Given the description of an element on the screen output the (x, y) to click on. 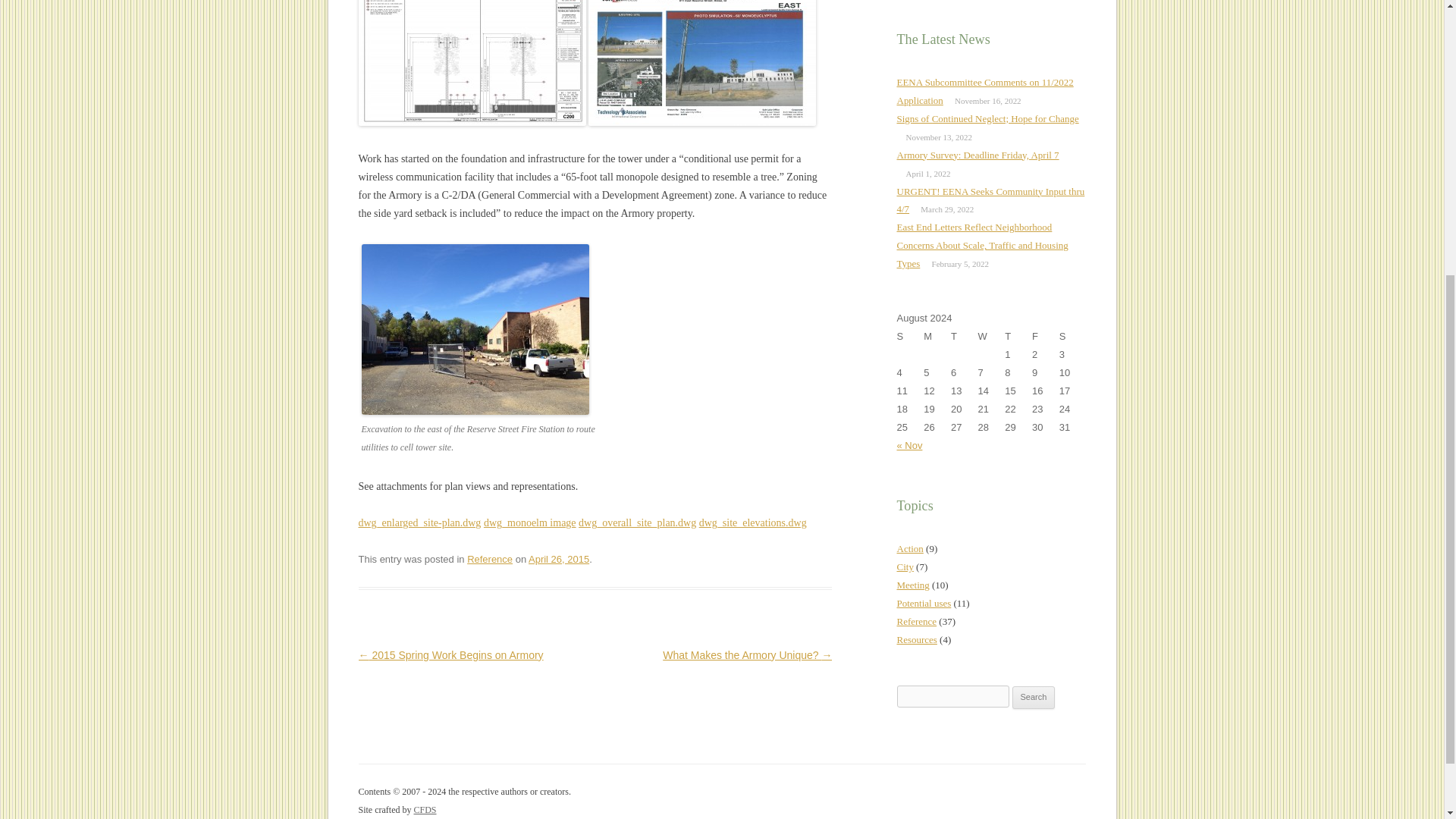
Wednesday (992, 336)
City (904, 566)
Meeting (912, 584)
Sunday (909, 336)
Friday (1045, 336)
Reference (916, 621)
Action (909, 548)
Tuesday (964, 336)
Armory Survey: Deadline Friday, April 7 (977, 154)
Saturday (1072, 336)
